Given the description of an element on the screen output the (x, y) to click on. 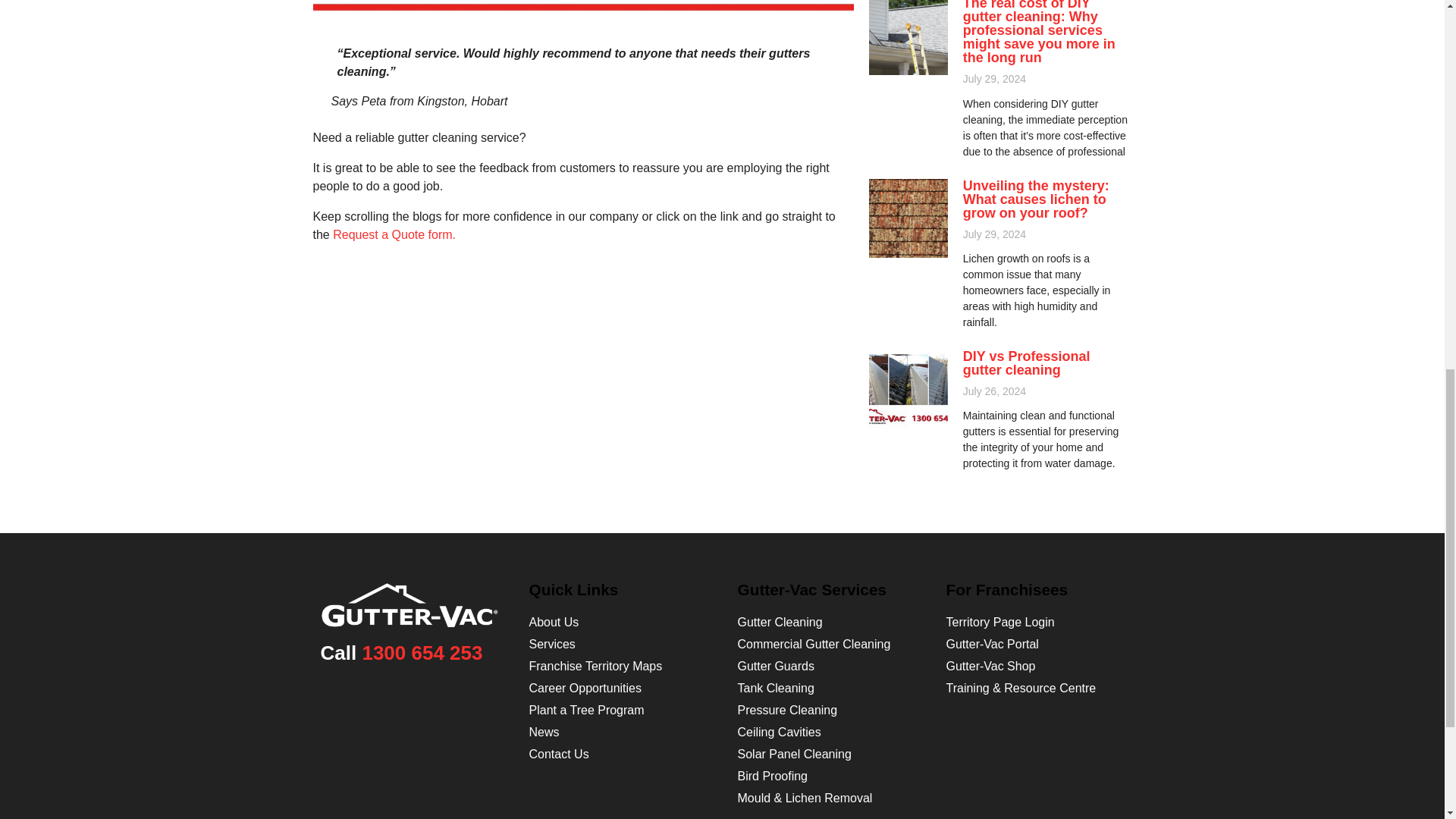
News (544, 731)
Commercial Gutter Cleaning (812, 644)
Career Opportunities (585, 687)
Contact Us (559, 753)
Gutter-Vac Shop (990, 666)
Solar Panel Cleaning (793, 753)
Plant a Tree Program (587, 709)
Pressure Cleaning (786, 709)
Bird Proofing (772, 775)
Territory Page Login (1000, 621)
Gutter Cleaning (779, 621)
Gutter-Vac Portal (992, 644)
DIY vs Professional gutter cleaning (1026, 362)
1300 654 253 (421, 652)
